Given the description of an element on the screen output the (x, y) to click on. 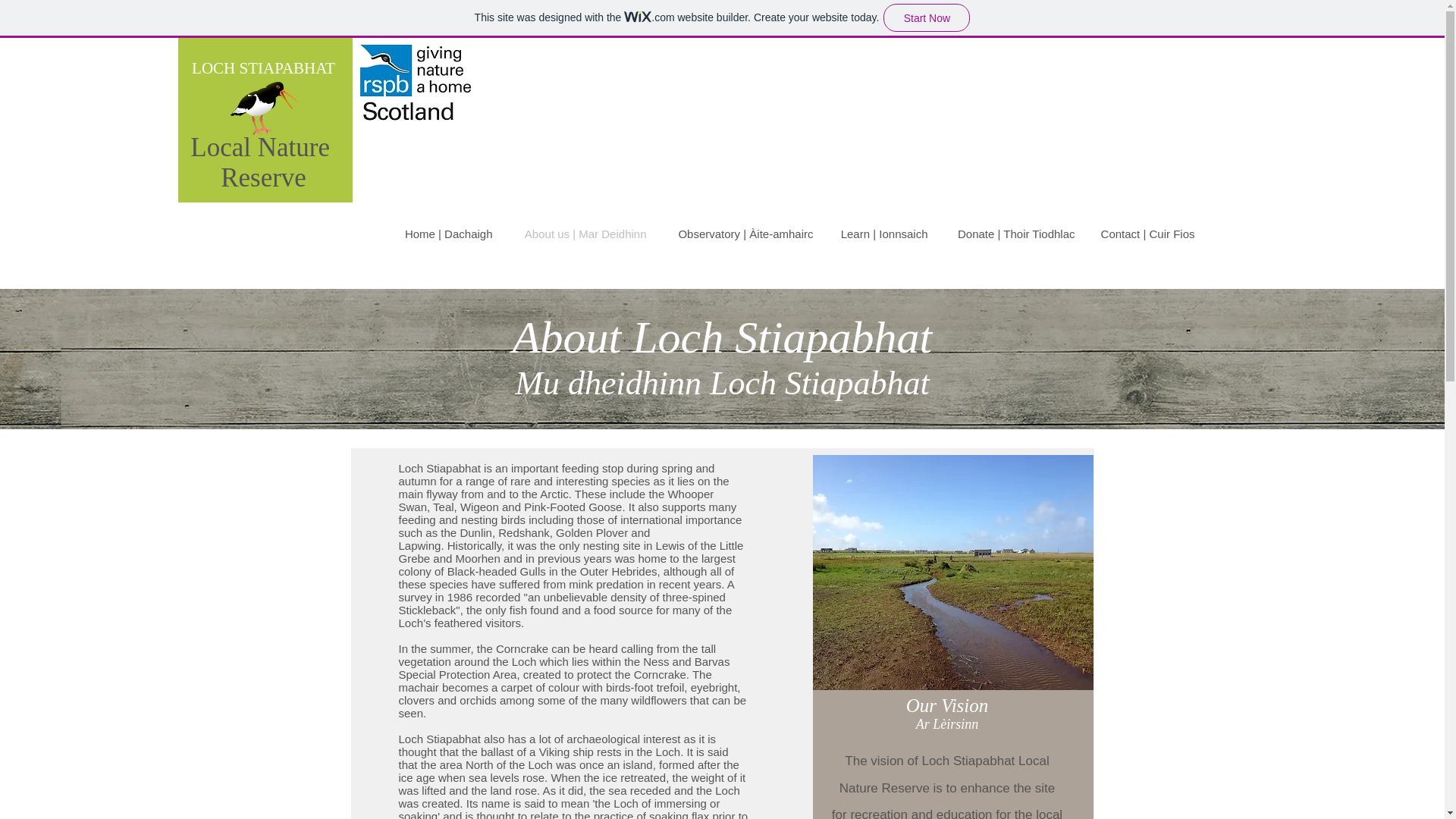
LOCH STIAPABHAT (263, 67)
LS Management.jpg (952, 572)
